Given the description of an element on the screen output the (x, y) to click on. 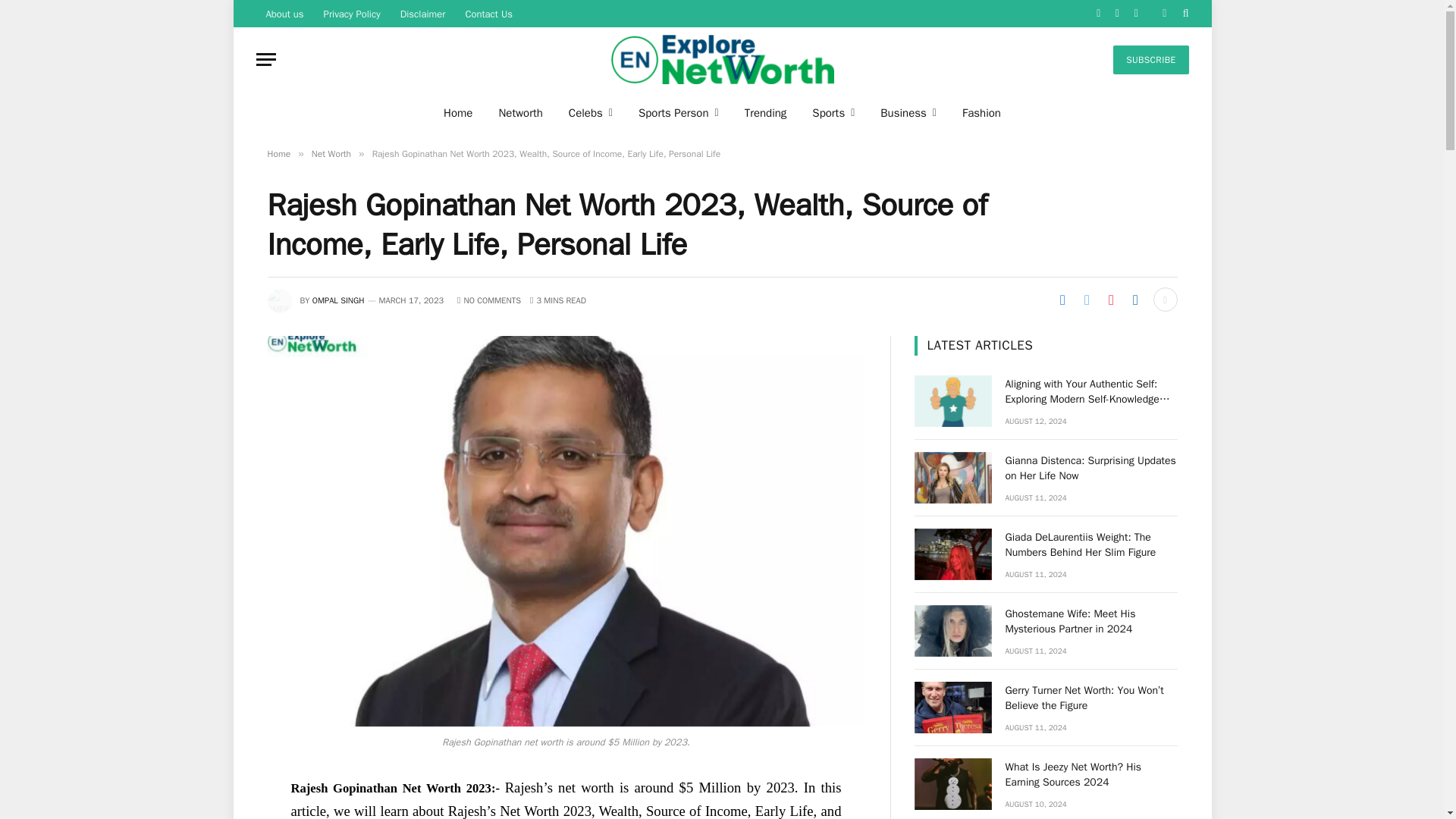
Disclaimer (422, 13)
SUBSCRIBE (1150, 59)
Trending (765, 112)
Posts by ompal Singh (339, 299)
Share on Pinterest (1110, 299)
Share on Facebook (1062, 299)
Contact Us (488, 13)
Privacy Policy (352, 13)
Networth (519, 112)
Switch to Dark Design - easier on eyes. (1164, 13)
